Given the description of an element on the screen output the (x, y) to click on. 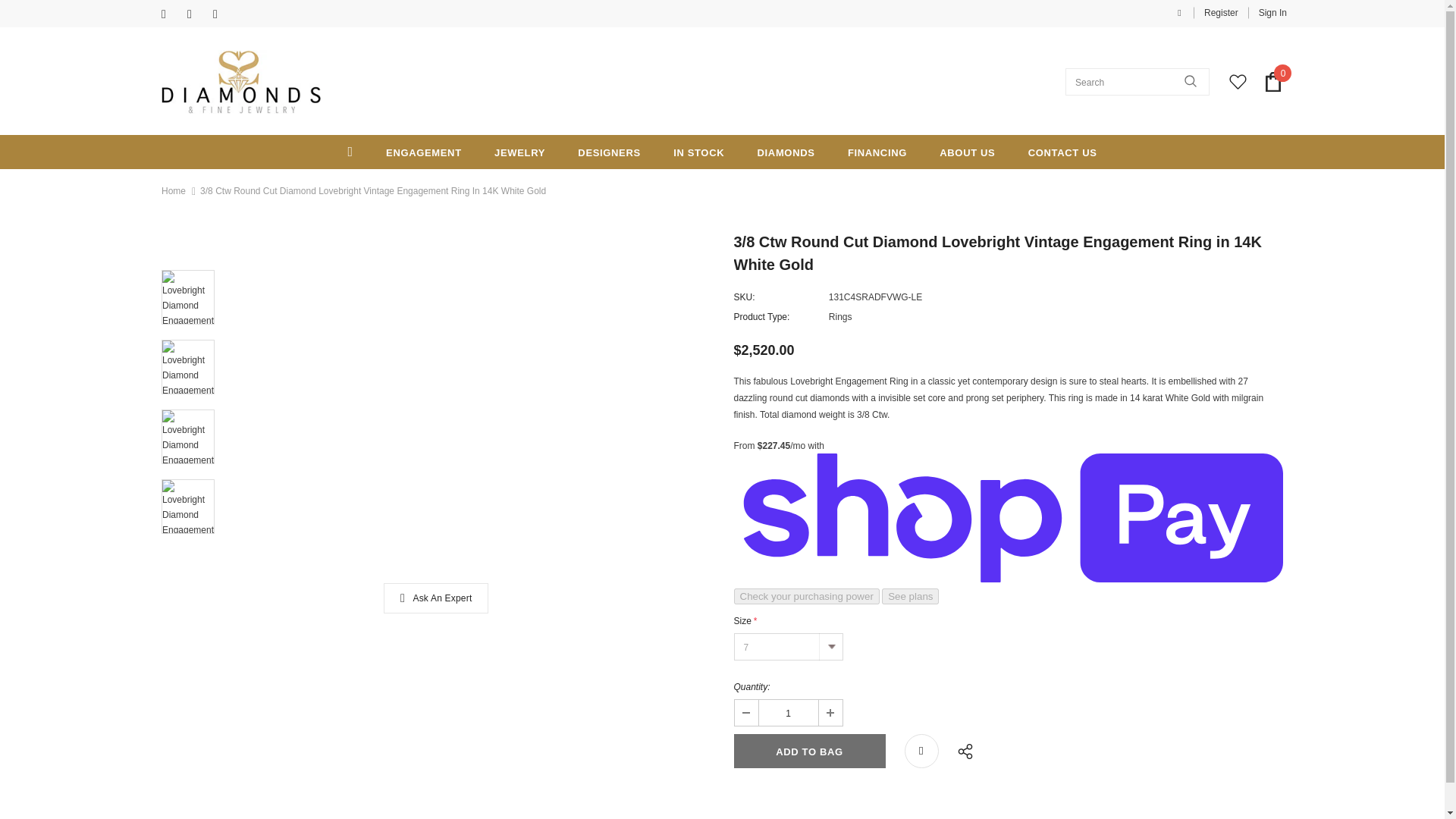
Sign In (1267, 12)
Twitter (196, 14)
Facebook (170, 14)
Register (1221, 12)
1 (787, 712)
Instagram (221, 14)
Add to Bag (809, 750)
